Given the description of an element on the screen output the (x, y) to click on. 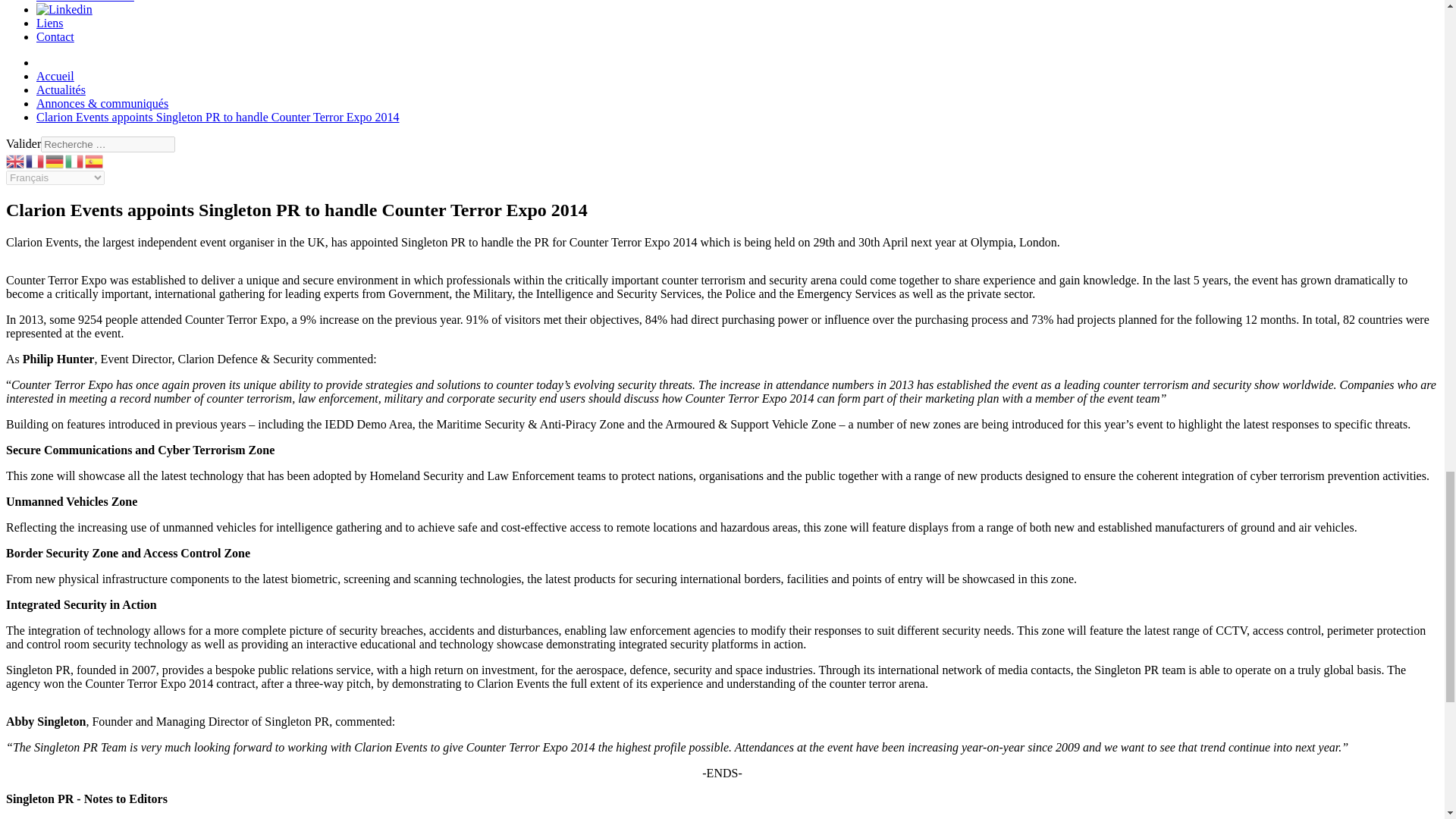
Italiano (74, 160)
English (15, 160)
Deutsch (55, 160)
